Given the description of an element on the screen output the (x, y) to click on. 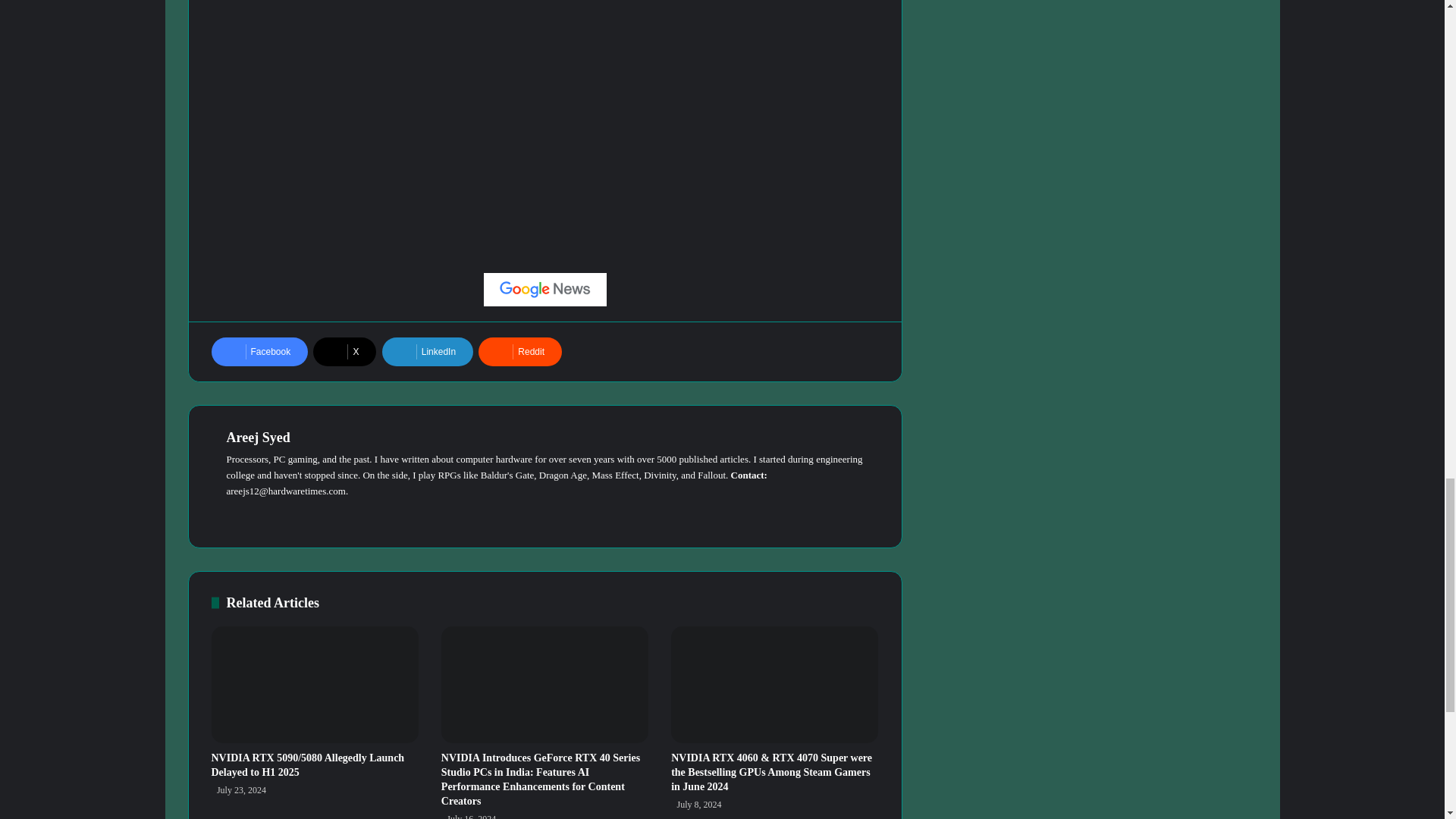
Reddit (520, 351)
LinkedIn (427, 351)
Facebook (259, 351)
X (344, 351)
